Given the description of an element on the screen output the (x, y) to click on. 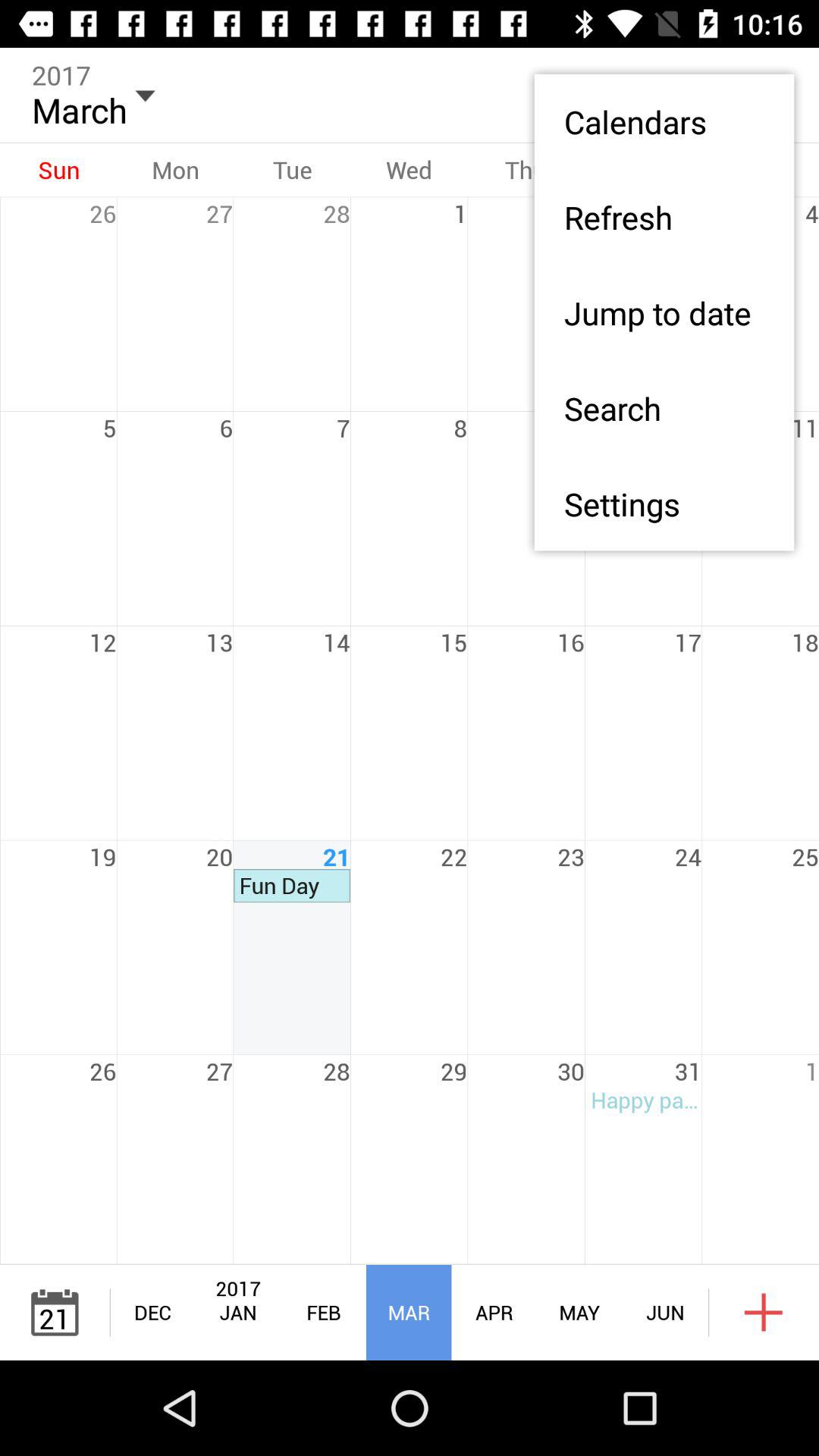
turn on the refresh item (664, 217)
